Given the description of an element on the screen output the (x, y) to click on. 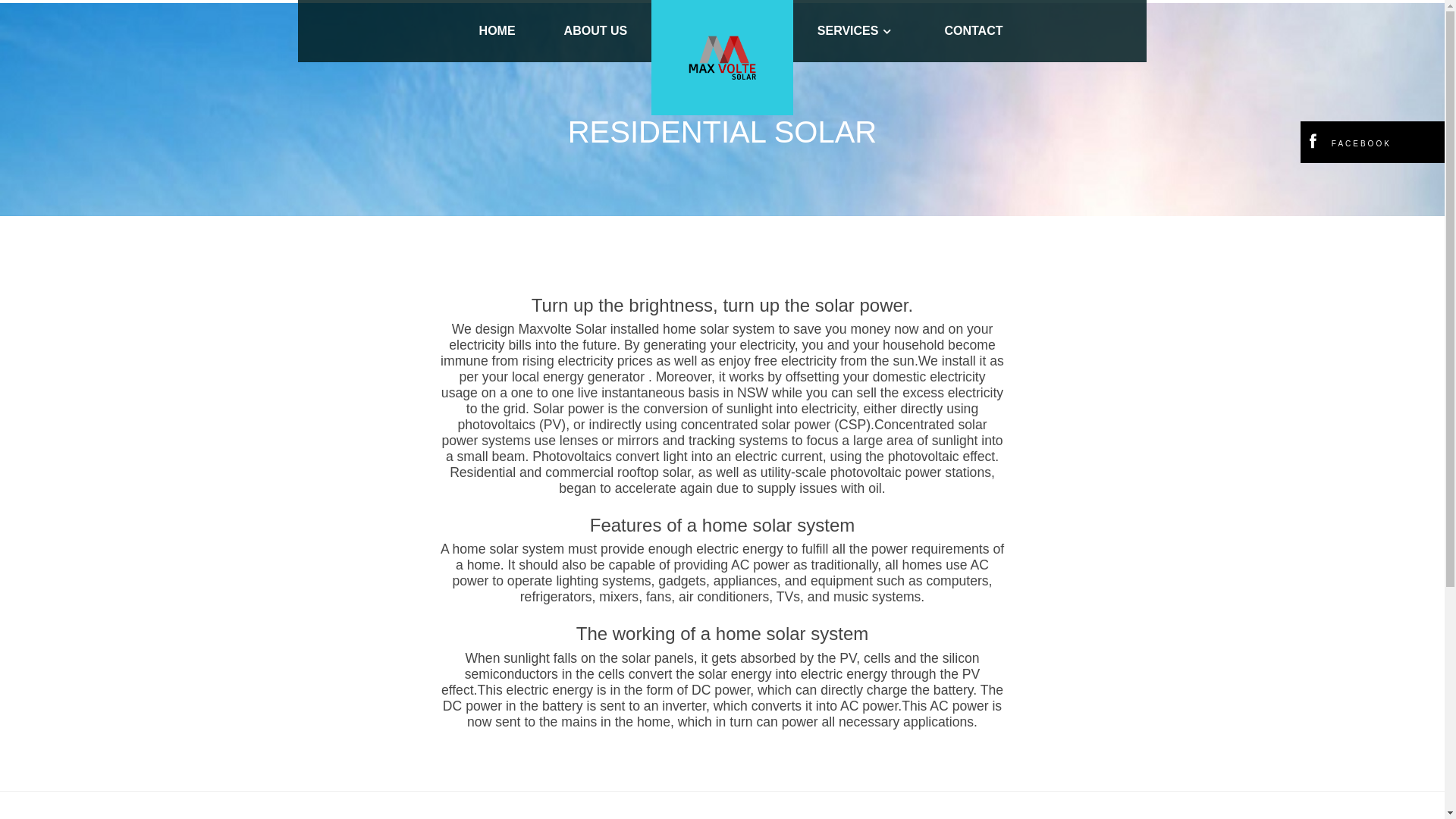
CONTACT Element type: text (972, 31)
ABOUT US Element type: text (595, 31)
HOME Element type: text (497, 31)
SERVICES Element type: text (856, 31)
  FACEBOOK Element type: text (1346, 143)
